Given the description of an element on the screen output the (x, y) to click on. 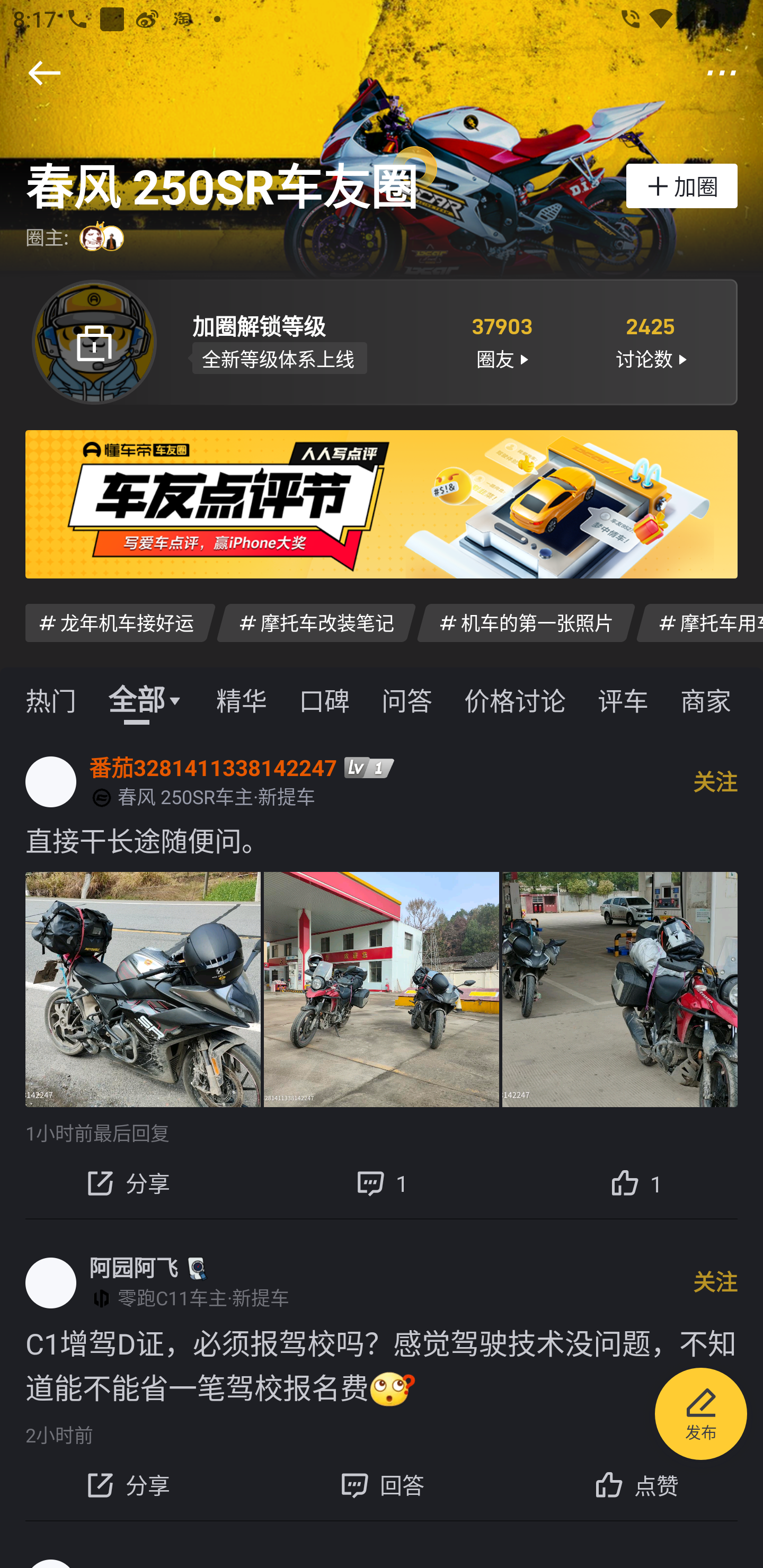
 (44, 72)
 (721, 72)
圈主: (76, 238)
加圈解锁等级 全新等级体系上线 (307, 341)
37903 圈友 (501, 341)
2425 讨论数 (650, 341)
 龙年机车接好运 (120, 622)
 摩托车改装笔记 (315, 622)
 机车的第一张照片 (525, 622)
热门 (50, 698)
全部  (146, 698)
精华 (241, 698)
口碑 (324, 698)
问答 (406, 698)
价格讨论 (514, 698)
评车 (622, 698)
商家 (705, 698)
番茄3281411338142247 (213, 767)
关注 (714, 781)
直接干长途随便问。 (381, 839)
 分享 (127, 1182)
 1 (381, 1182)
1 (635, 1182)
阿园阿飞 (133, 1268)
关注 (714, 1282)
C1增驾D证，必须报驾校吗？感觉驾驶技术没问题，不知道能不能省一笔驾校报名费[what] (381, 1365)
 发布 (701, 1416)
 分享 (127, 1485)
 回答 (381, 1485)
点赞 (635, 1485)
